Given the description of an element on the screen output the (x, y) to click on. 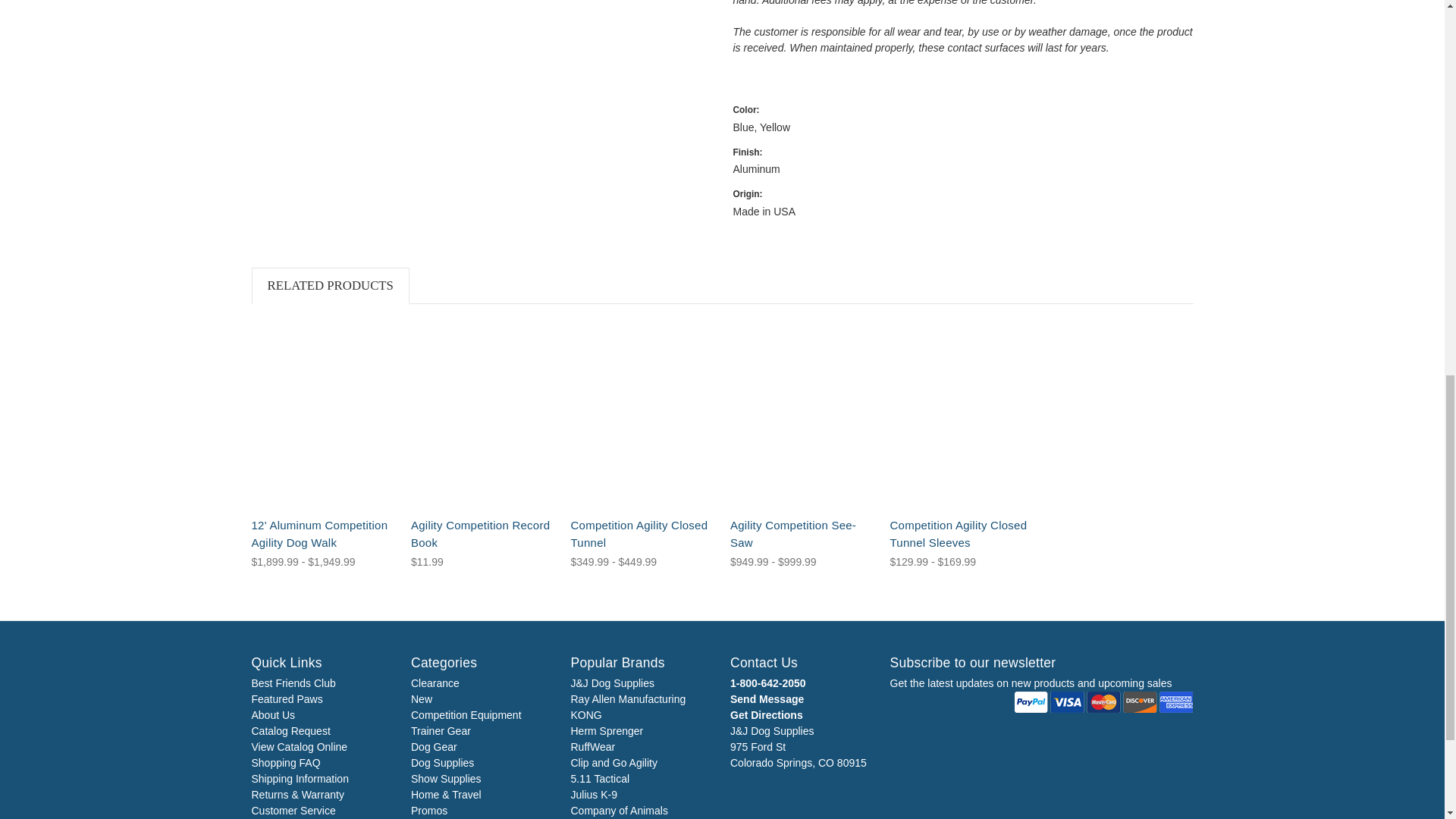
Agility Competition Record Book (482, 414)
Competition Agility Closed Tunnel Sleeves (961, 414)
Competition Agility Closed Tunnel (642, 414)
12' Aluminum Competition Agility Dog Walk (323, 414)
Agility Competition See-Saw (802, 414)
